Given the description of an element on the screen output the (x, y) to click on. 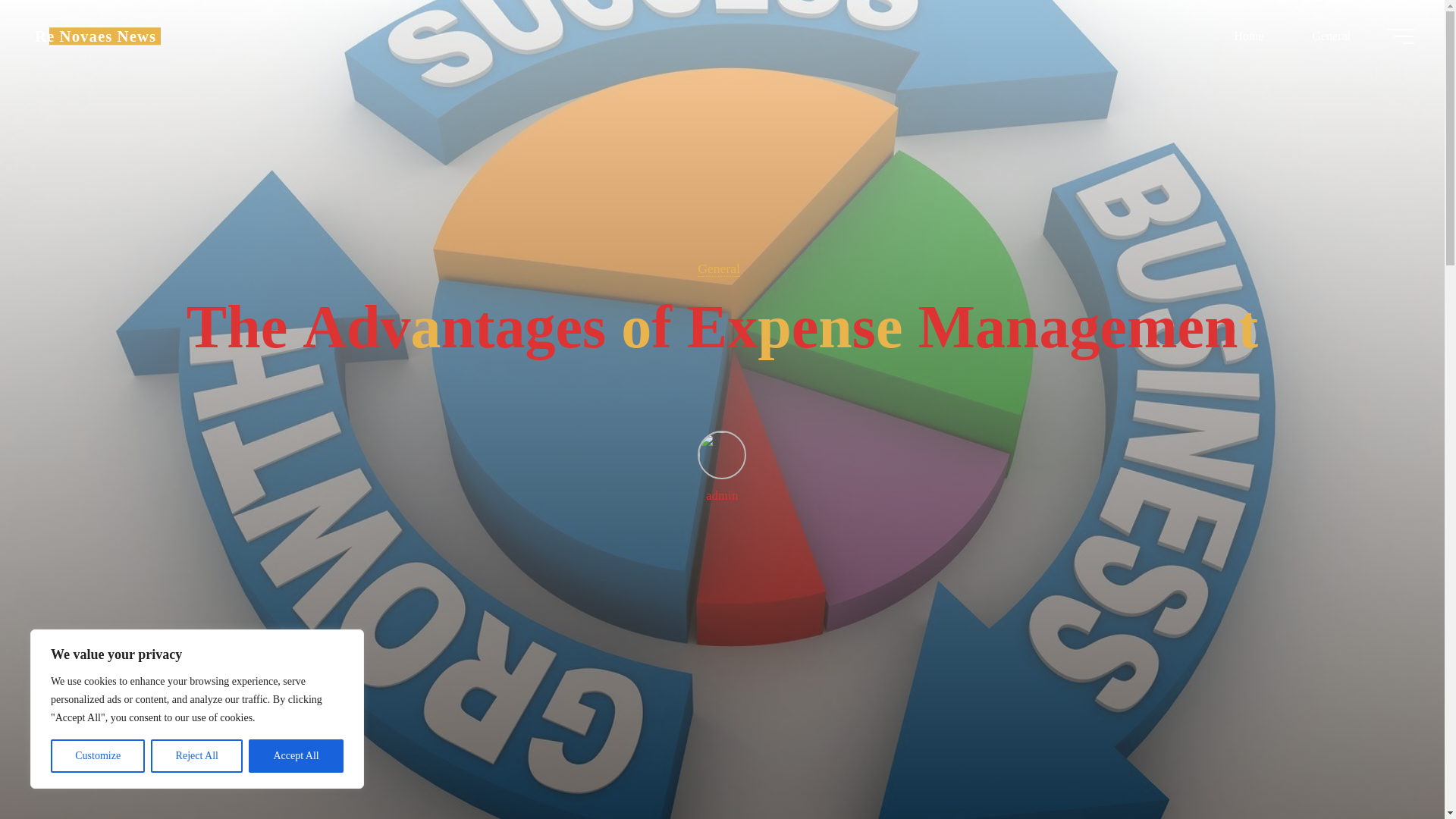
Blog (95, 36)
Reject All (197, 756)
General (718, 268)
Customize (97, 756)
Re Novaes News (95, 36)
Read more (721, 724)
General (1330, 35)
Home (1248, 35)
Accept All (295, 756)
